Given the description of an element on the screen output the (x, y) to click on. 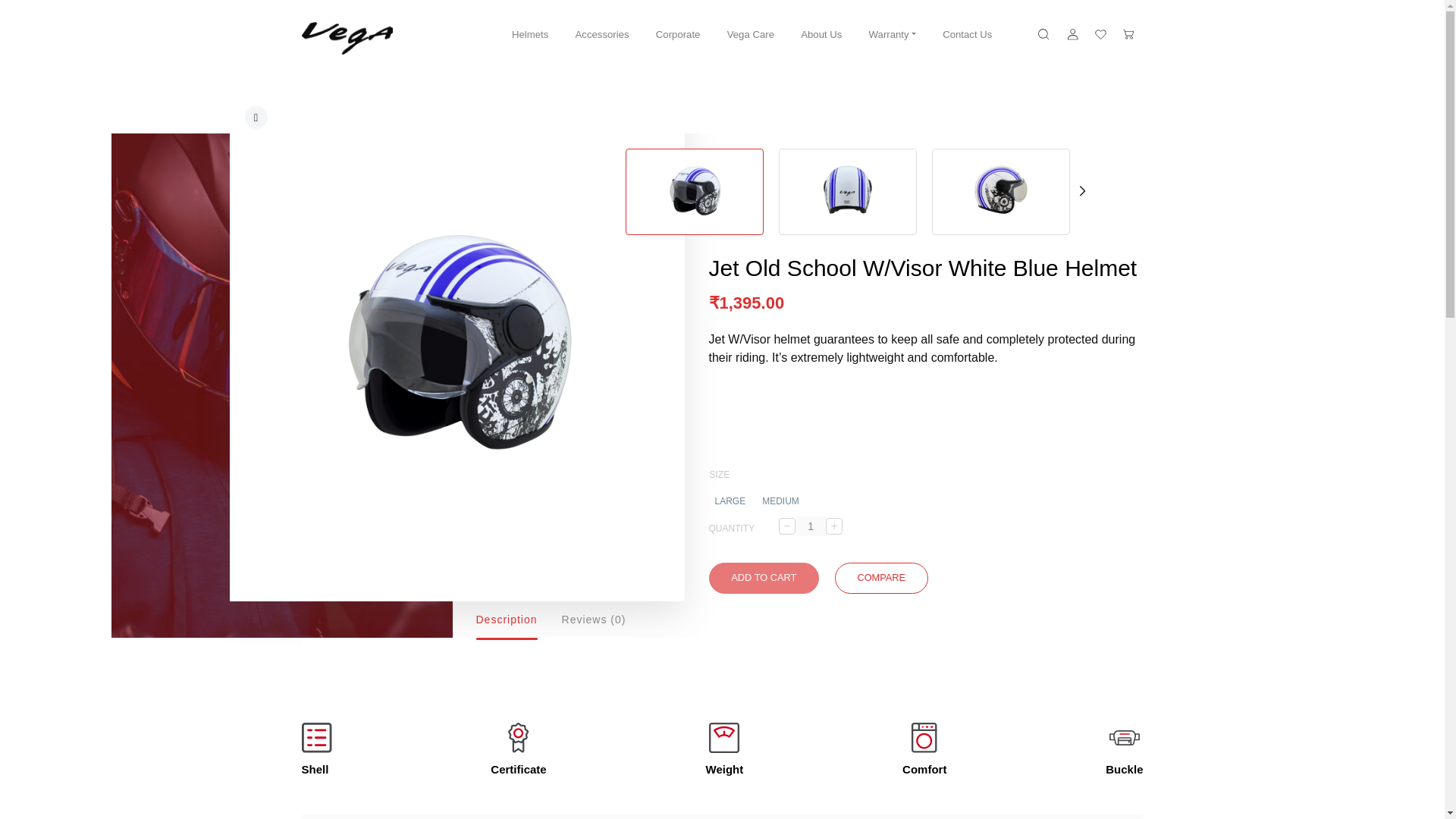
helmets (772, 101)
ADD TO CART (762, 577)
Qty (809, 526)
Vega Care (750, 34)
home (721, 101)
1 (809, 526)
About Us (820, 34)
Corporate (677, 34)
Medium (781, 500)
Corporate (677, 34)
Helmets (529, 34)
open face helmets (852, 101)
Warranty (892, 34)
Contact Us (966, 34)
Accessories (601, 34)
